Given the description of an element on the screen output the (x, y) to click on. 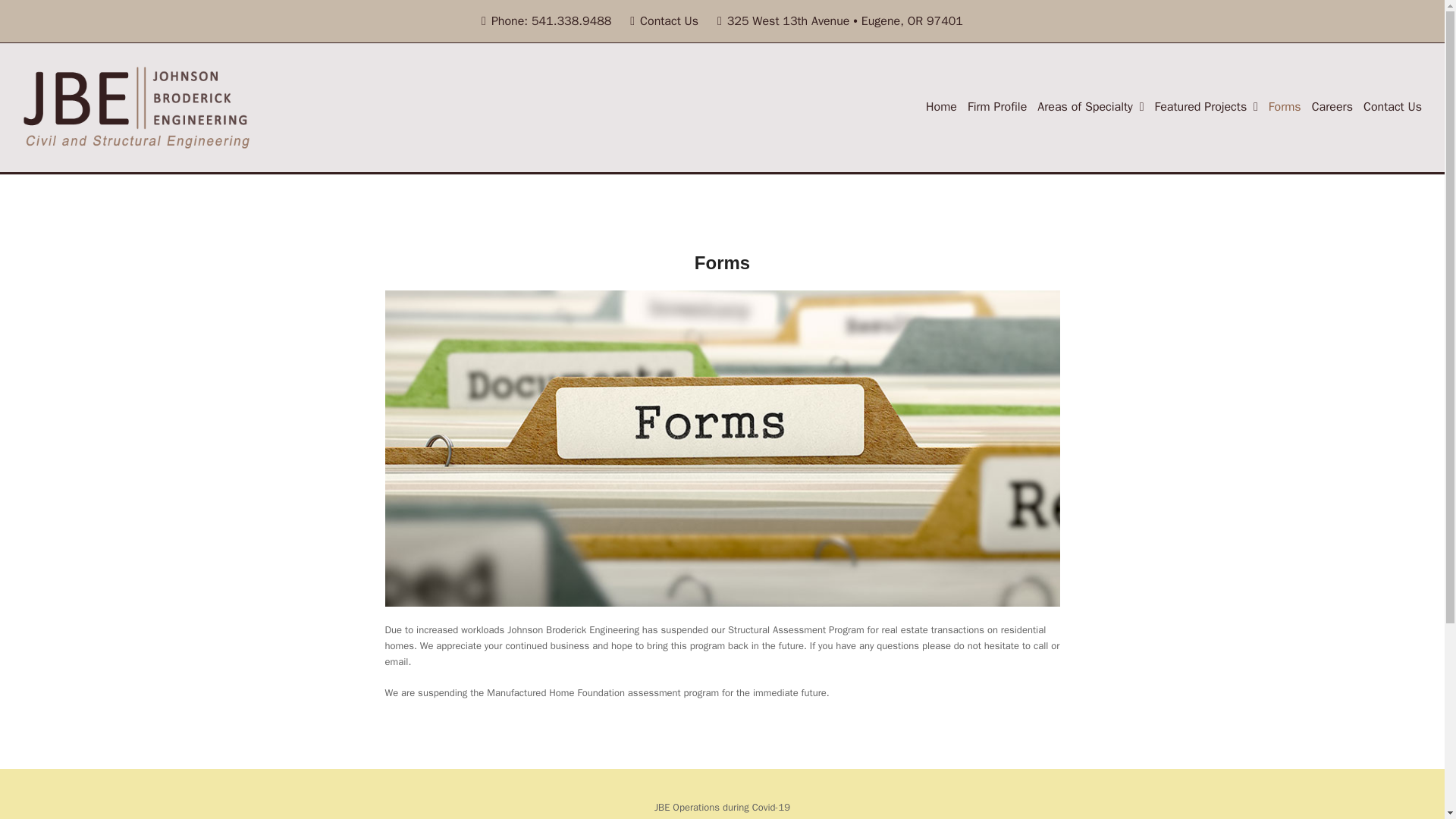
Phone: 541.338.9488 (546, 20)
Firm Profile (997, 107)
Forms (1285, 107)
Contact Us (664, 20)
Areas of Specialty (1090, 107)
Contact Us (1392, 107)
Featured Projects (1205, 107)
Careers (1332, 107)
Home (941, 107)
